Given the description of an element on the screen output the (x, y) to click on. 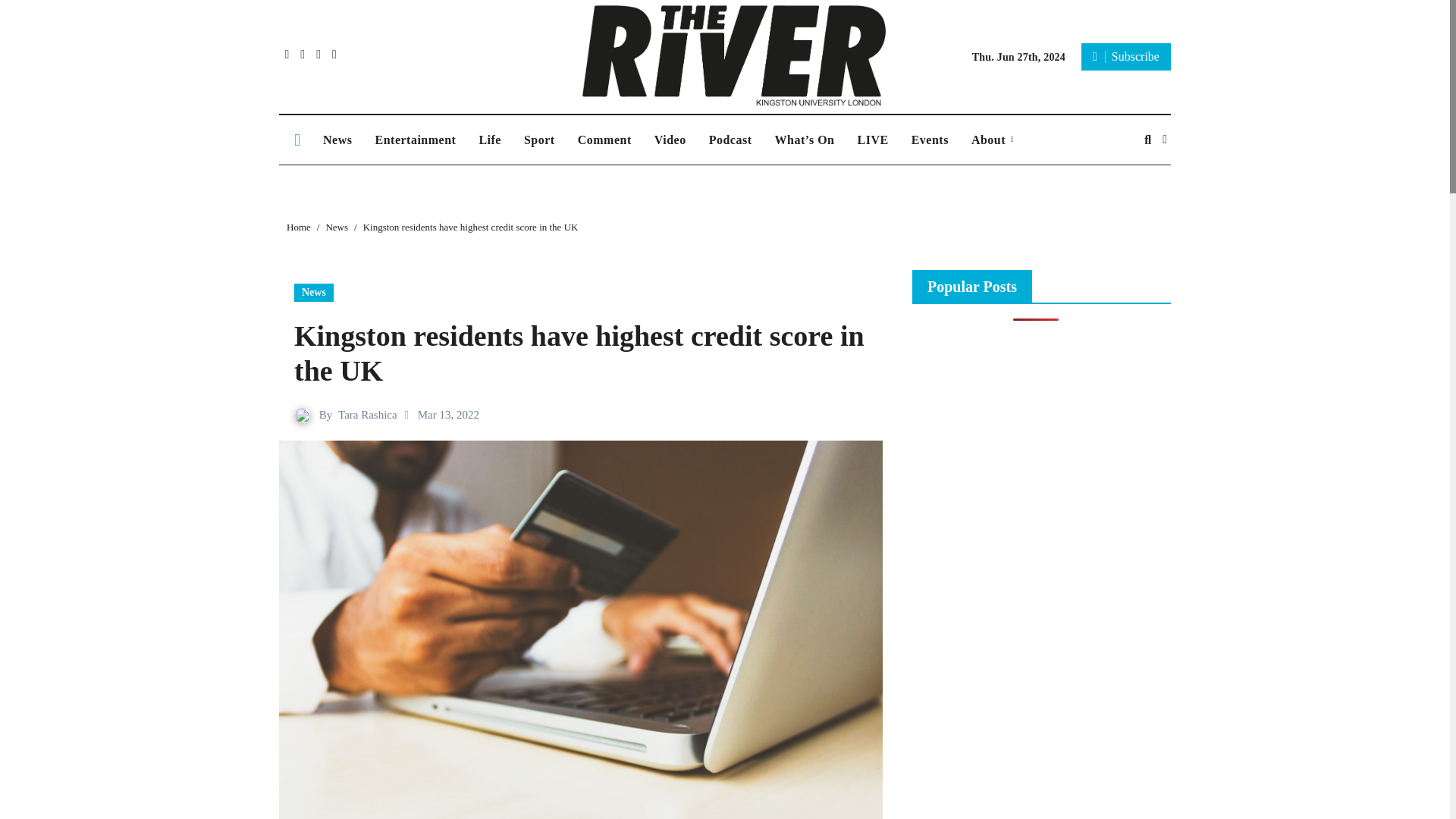
About (992, 139)
Events (929, 139)
About (992, 139)
Video (670, 139)
Podcast (729, 139)
Home (298, 226)
Sport (539, 139)
LIVE (872, 139)
Events (929, 139)
Subscribe (1125, 56)
Entertainment (414, 139)
Podcast (729, 139)
Video (670, 139)
News (313, 292)
LIVE (872, 139)
